Given the description of an element on the screen output the (x, y) to click on. 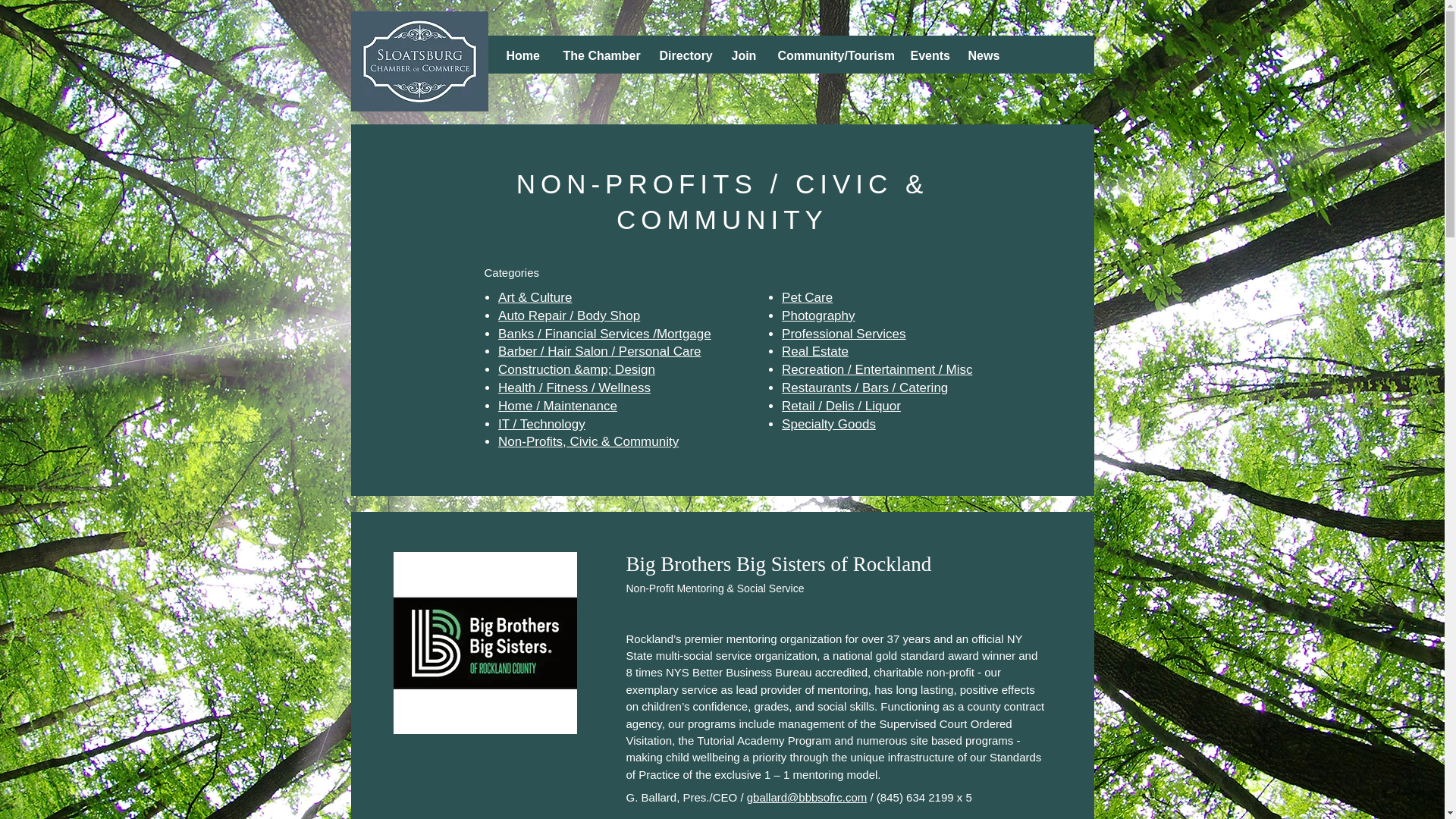
Real Estate (814, 350)
Pet Care (806, 297)
Professional Services (843, 333)
Join (743, 55)
Home (523, 55)
News (982, 55)
Specialty Goods (828, 423)
Photography (817, 315)
Directory (683, 55)
